Given the description of an element on the screen output the (x, y) to click on. 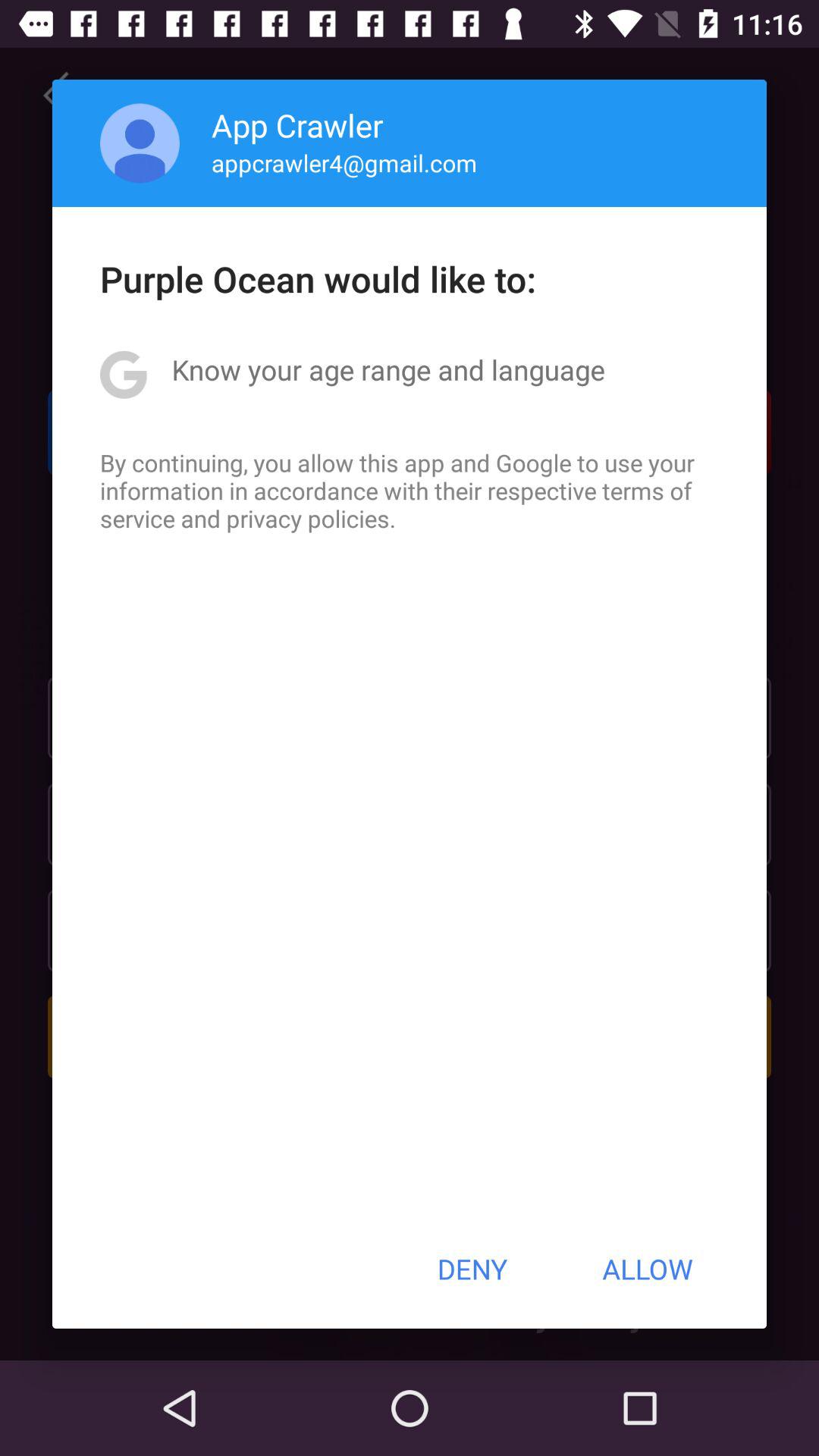
open icon above the purple ocean would app (139, 143)
